Given the description of an element on the screen output the (x, y) to click on. 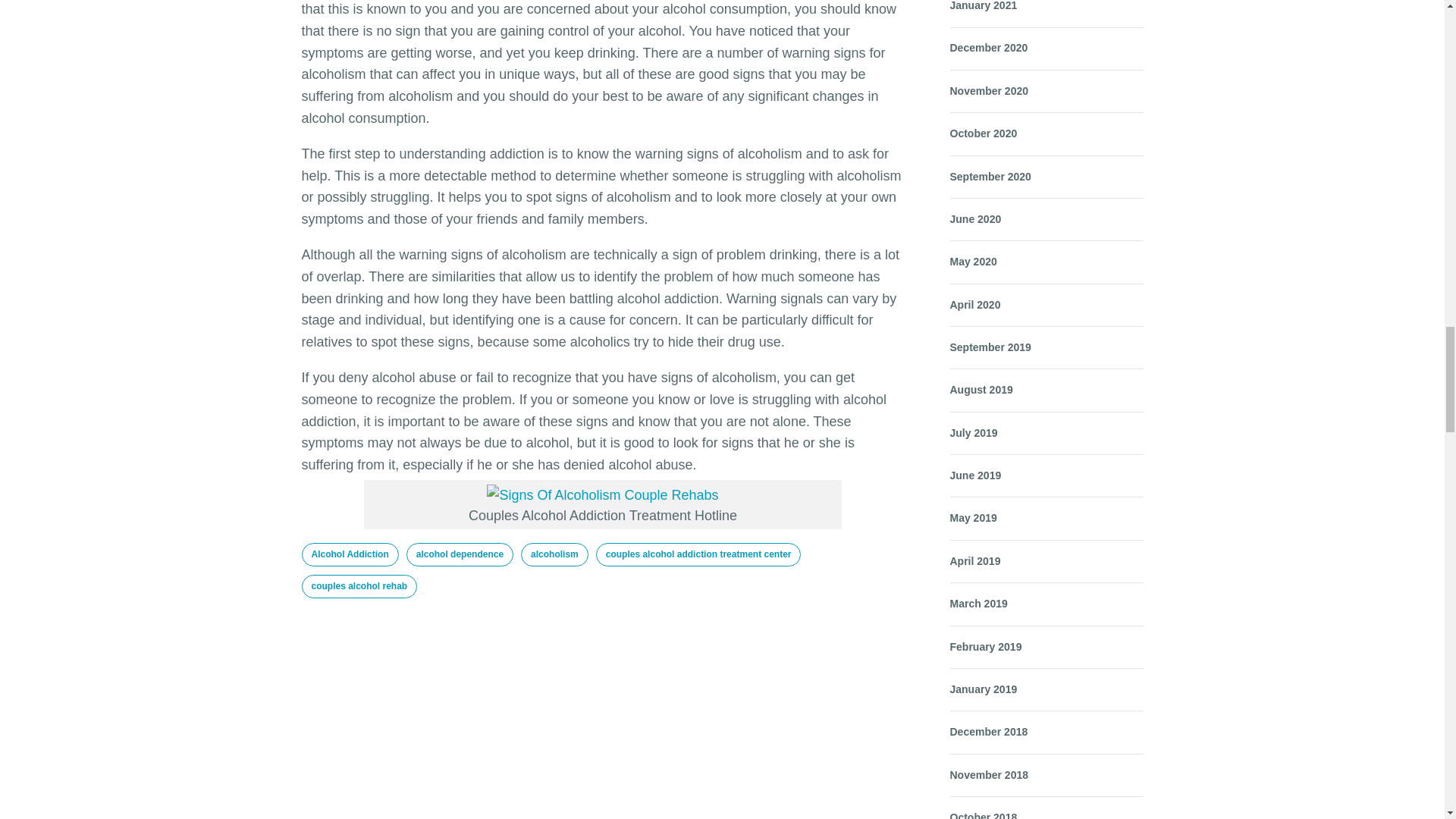
couples alcohol addiction treatment center (698, 554)
Alcohol Addiction (349, 554)
alcoholism (554, 554)
Signs Of Alcoholism Couple Rehabs (601, 495)
couples alcohol rehab (359, 586)
alcohol dependence (459, 554)
